Given the description of an element on the screen output the (x, y) to click on. 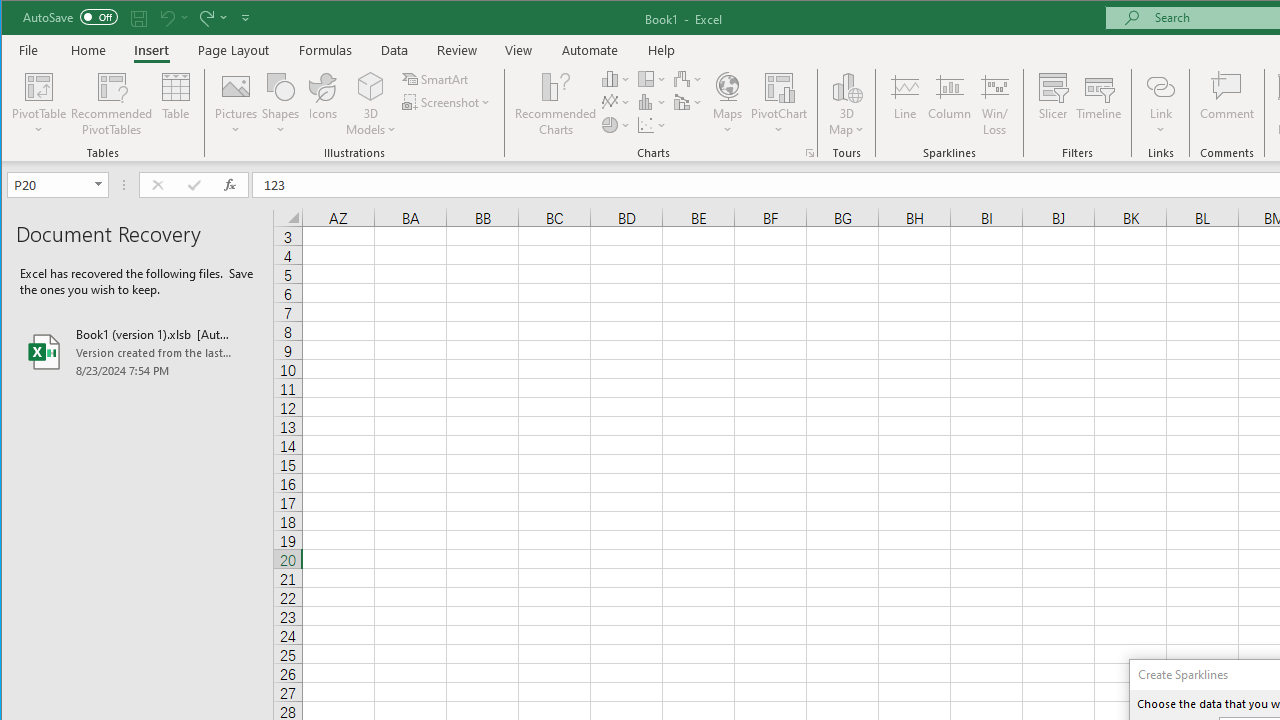
Insert Hierarchy Chart (652, 78)
Win/Loss (995, 104)
Insert Combo Chart (688, 101)
Comment (1227, 104)
3D Map (846, 86)
Timeline (1098, 104)
PivotChart (779, 104)
Insert Waterfall, Funnel, Stock, Surface, or Radar Chart (688, 78)
Insert Line or Area Chart (616, 101)
Insert Statistic Chart (652, 101)
